Given the description of an element on the screen output the (x, y) to click on. 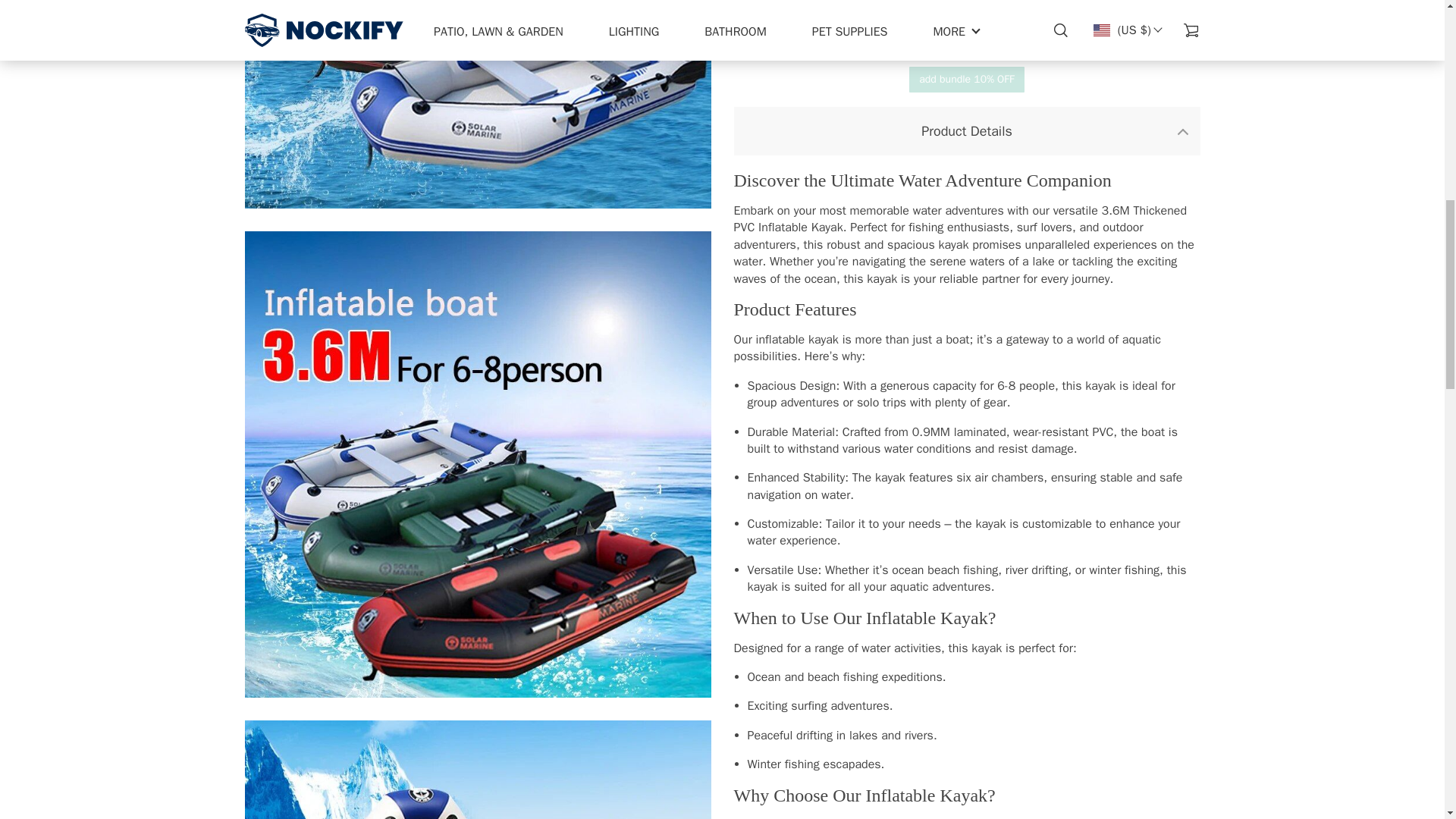
992-f2dea7.jpg (477, 769)
992-915a9b.jpg (477, 104)
